Given the description of an element on the screen output the (x, y) to click on. 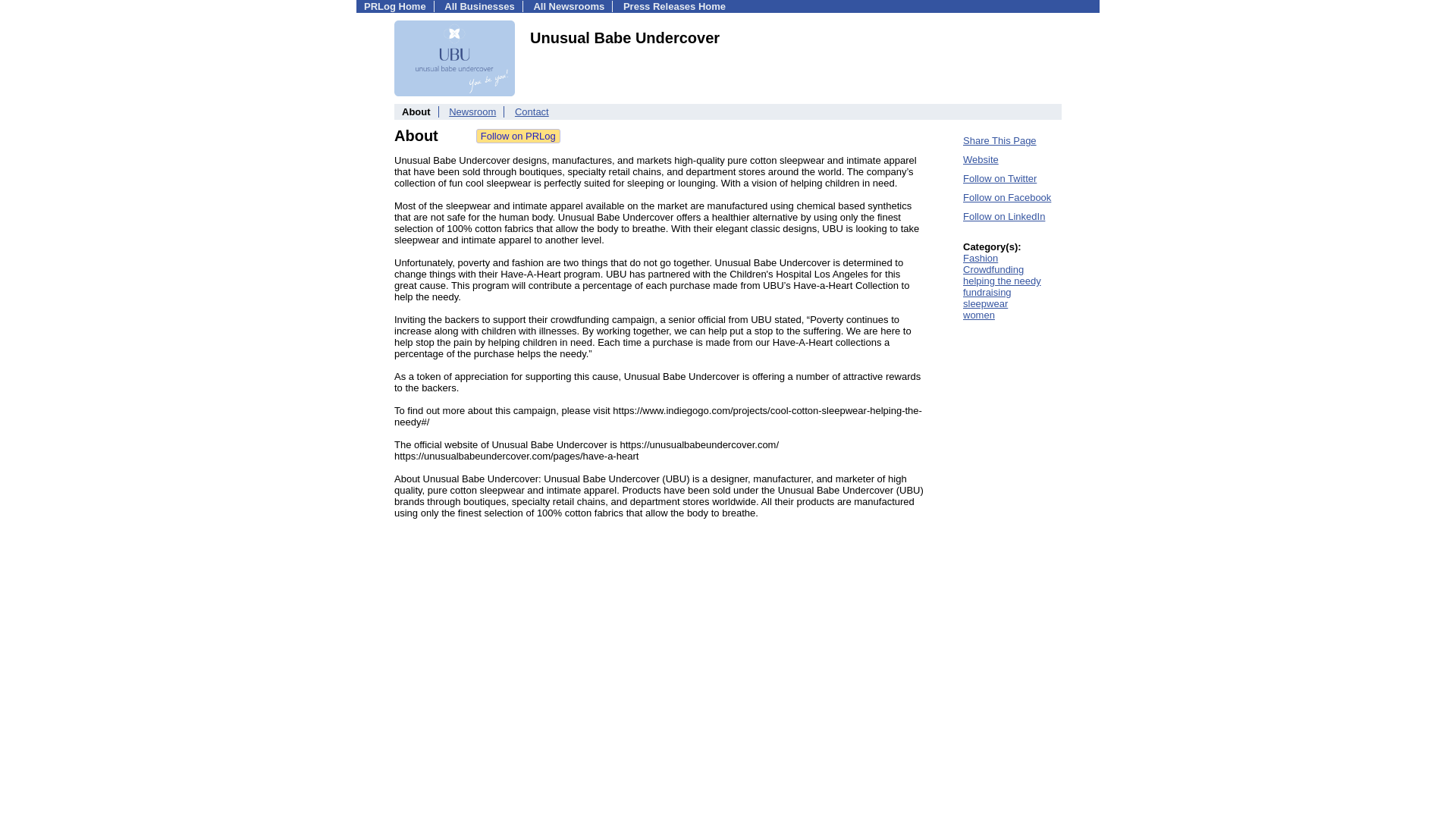
Fashion (979, 257)
Website (980, 159)
All Businesses (479, 6)
Bookmark this page on various sharing sites! (999, 140)
Press Releases Home (674, 6)
fundraising (986, 292)
Follow on PRLog (518, 135)
Newsroom (472, 111)
Follow on PRLog (518, 135)
helping the needy (1001, 280)
All Newsrooms (568, 6)
Crowdfunding (992, 269)
Contact (531, 111)
Share This Page (999, 140)
Follow on Facebook (1006, 197)
